Given the description of an element on the screen output the (x, y) to click on. 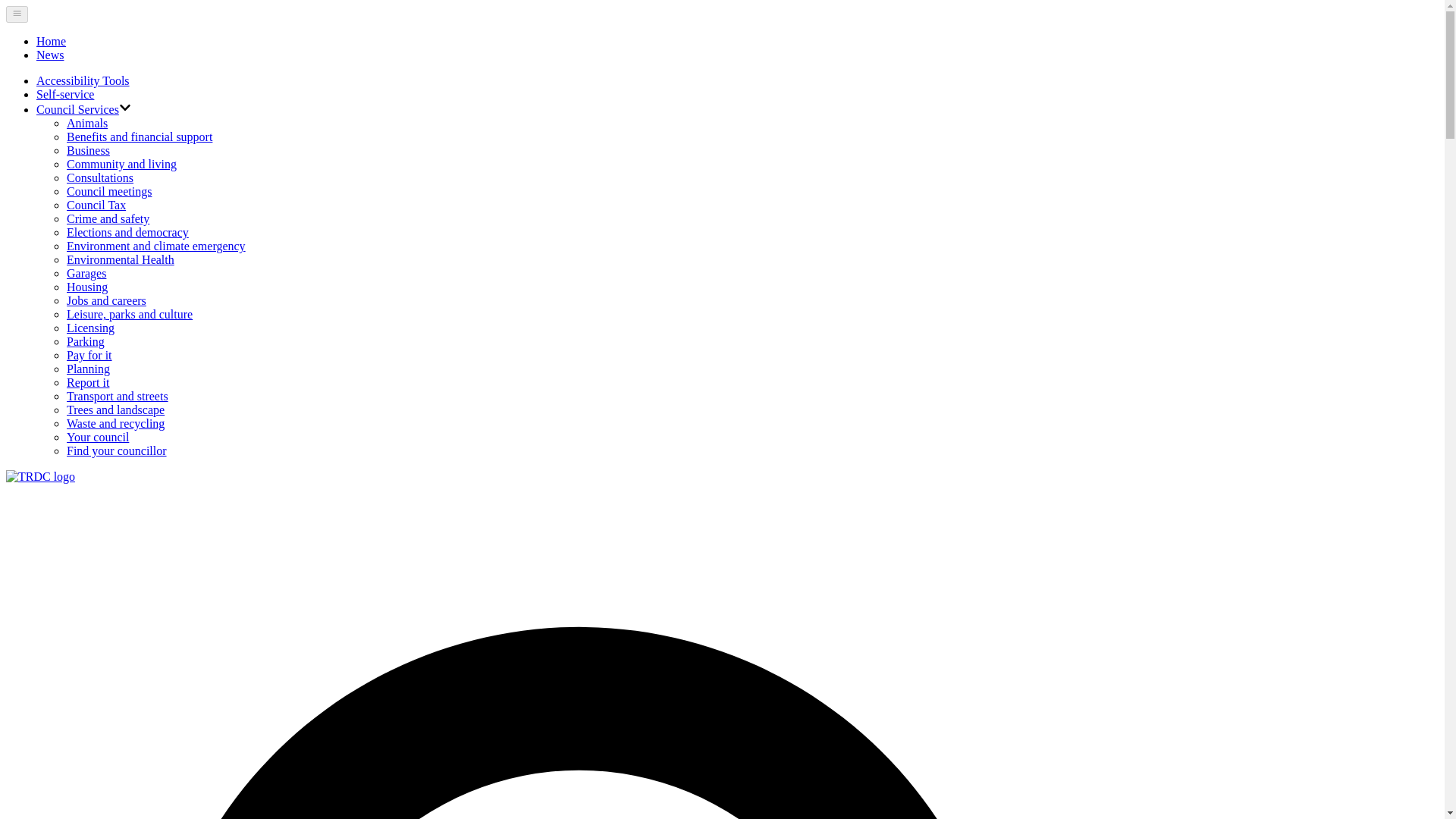
Crime and safety (107, 218)
Transport and streets (117, 395)
Jobs and careers (106, 300)
Council Services (77, 109)
Self-service (65, 93)
Report it (87, 382)
News (50, 54)
Licensing (90, 327)
Animals (86, 123)
Find your councillor (116, 450)
